Given the description of an element on the screen output the (x, y) to click on. 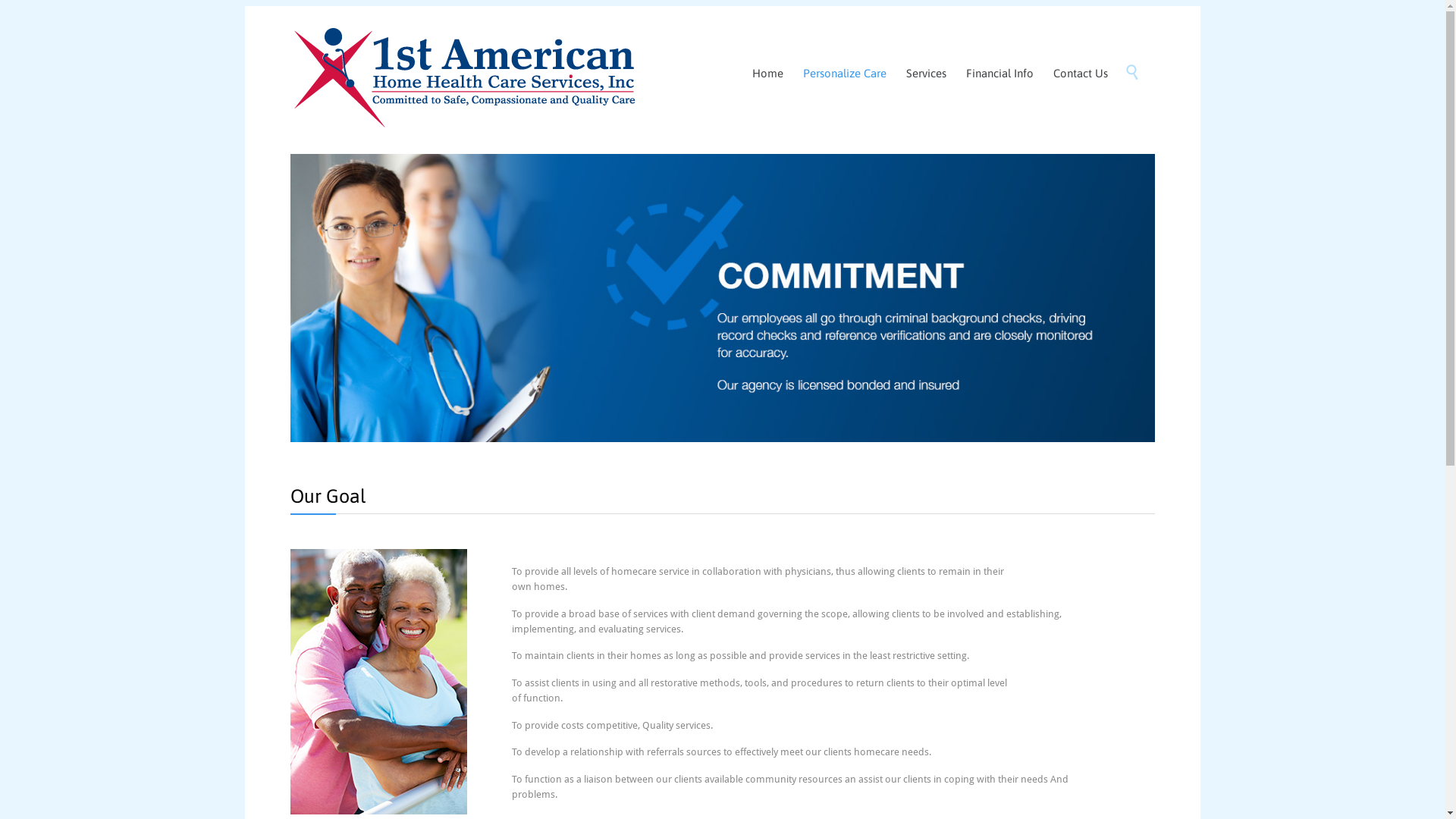
Contact Us Element type: text (1080, 73)
Financial Info Element type: text (998, 73)
My blog Element type: hover (463, 72)
Personalize Care Element type: text (844, 73)
Services Element type: text (926, 73)
Home Element type: text (766, 73)
Skip to content Element type: text (1119, 56)
